Given the description of an element on the screen output the (x, y) to click on. 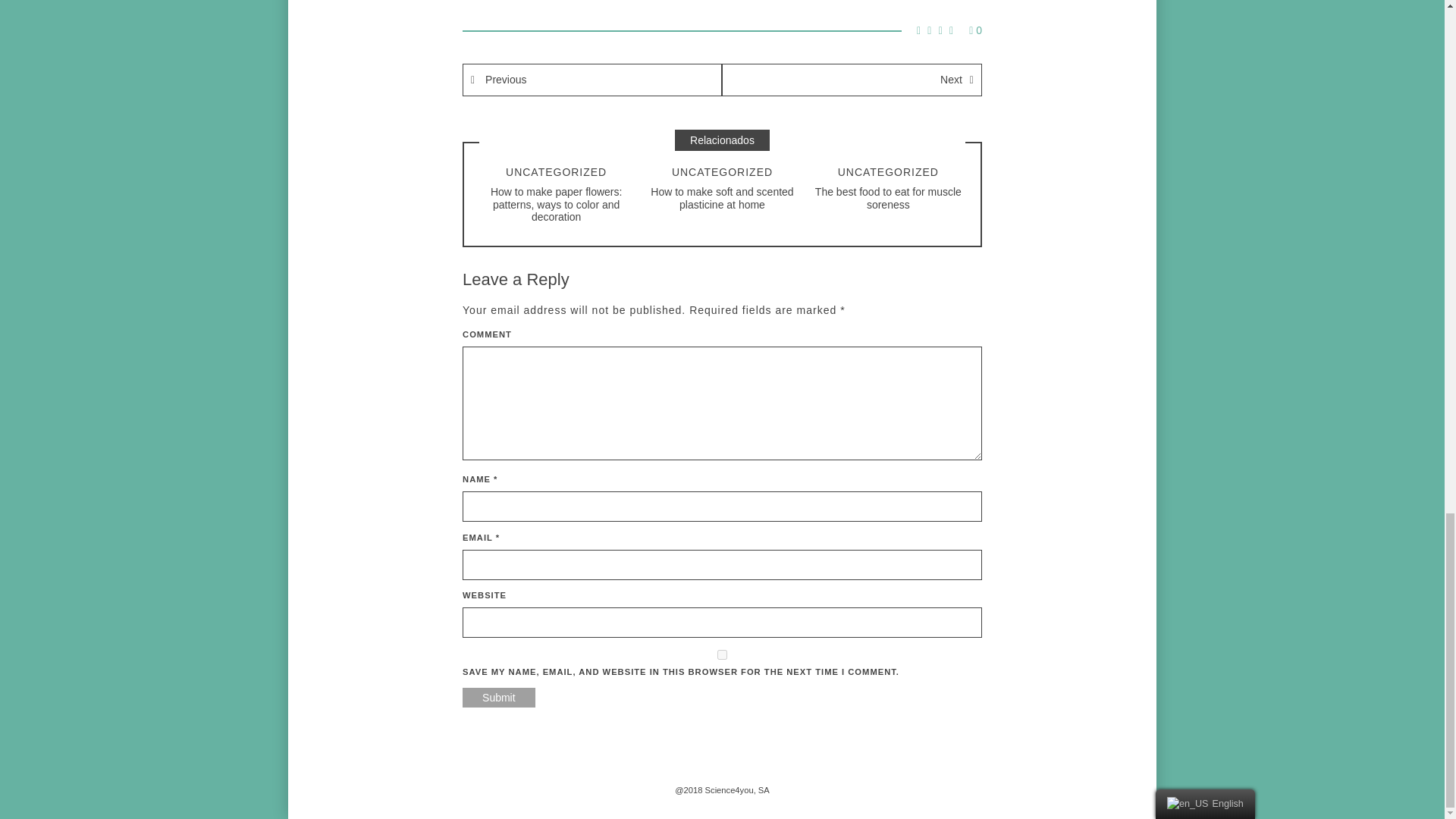
UNCATEGORIZED (888, 172)
Previous (592, 79)
Submit (499, 697)
yes (722, 655)
Submit (499, 697)
Next (851, 79)
Permalink to How to make soft and scented plasticine at home (721, 197)
Permalink to The best food to eat for muscle soreness (887, 197)
UNCATEGORIZED (722, 172)
How to make soft and scented plasticine at home (721, 197)
0 (975, 30)
The best food to eat for muscle soreness (887, 197)
UNCATEGORIZED (556, 172)
